Given the description of an element on the screen output the (x, y) to click on. 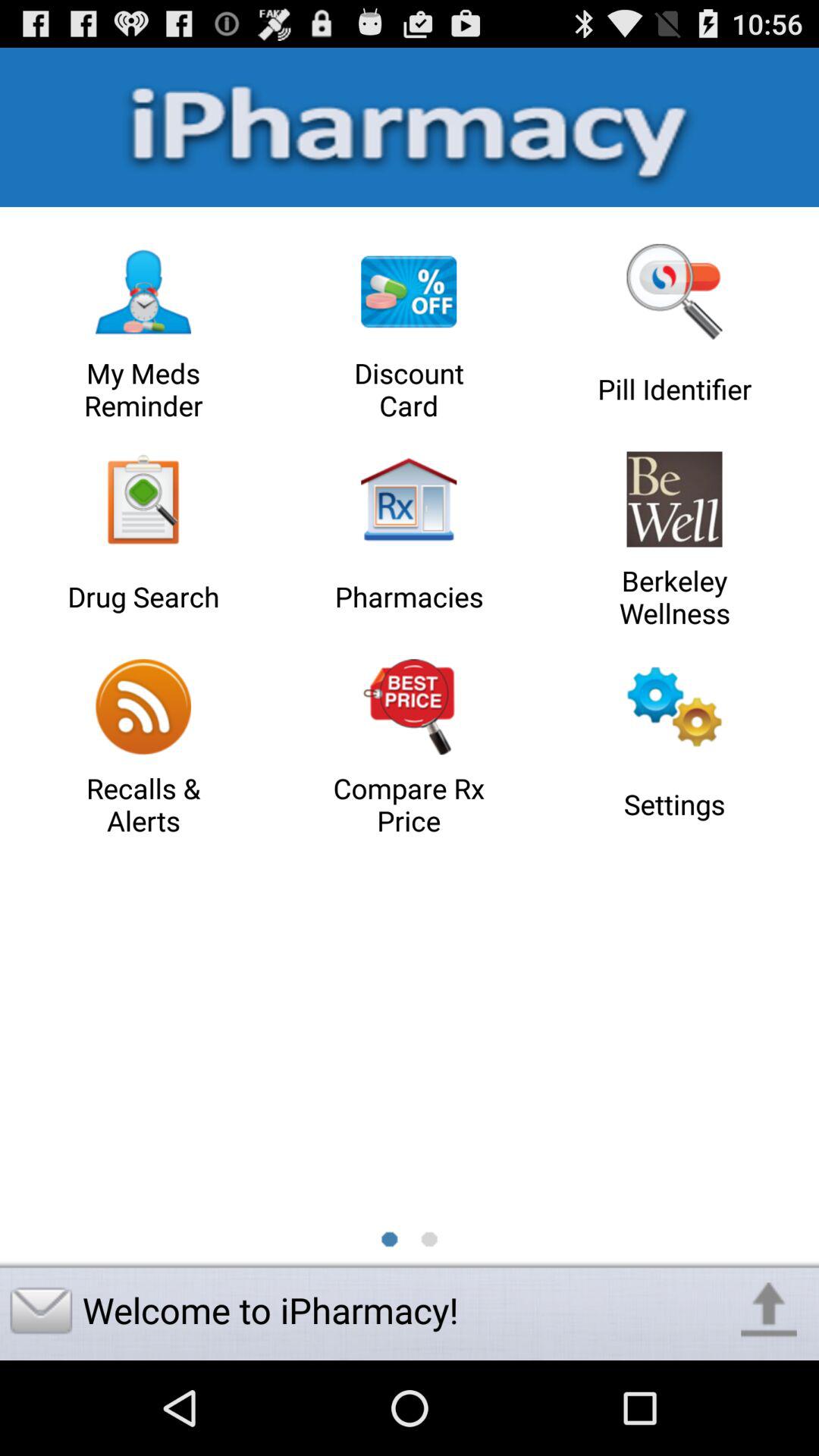
tap icon next to welcome to ipharmacy! icon (768, 1310)
